Given the description of an element on the screen output the (x, y) to click on. 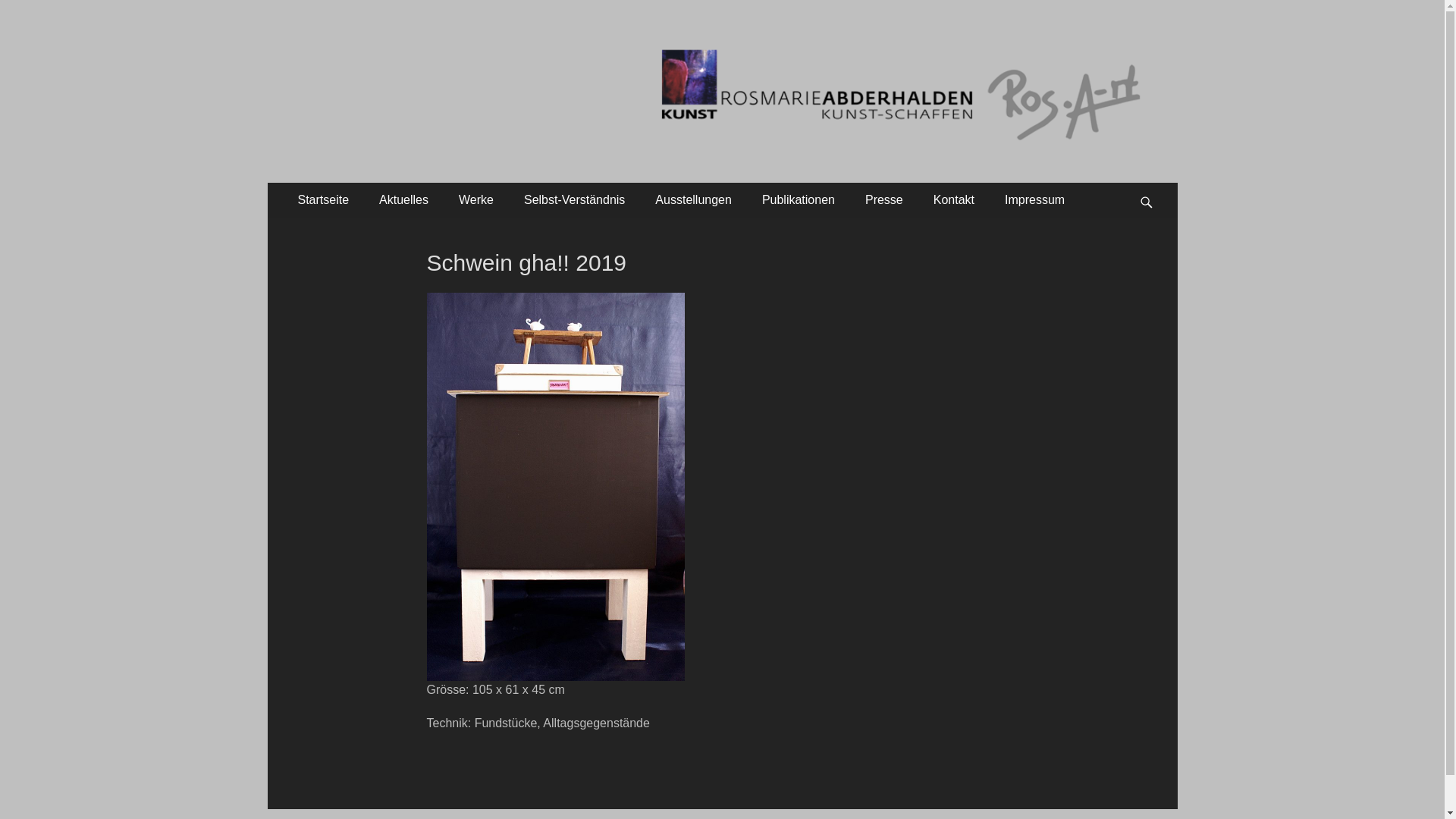
Ros. A-rt - Rosmarie Abderhalden Element type: text (527, 48)
Werke Element type: text (475, 199)
Kontakt Element type: text (953, 199)
Impressum Element type: text (1034, 199)
Search Element type: text (1152, 182)
Aktuelles Element type: text (403, 199)
Publikationen Element type: text (798, 199)
Ausstellungen Element type: text (693, 199)
Presse Element type: text (884, 199)
Startseite Element type: text (323, 199)
